Given the description of an element on the screen output the (x, y) to click on. 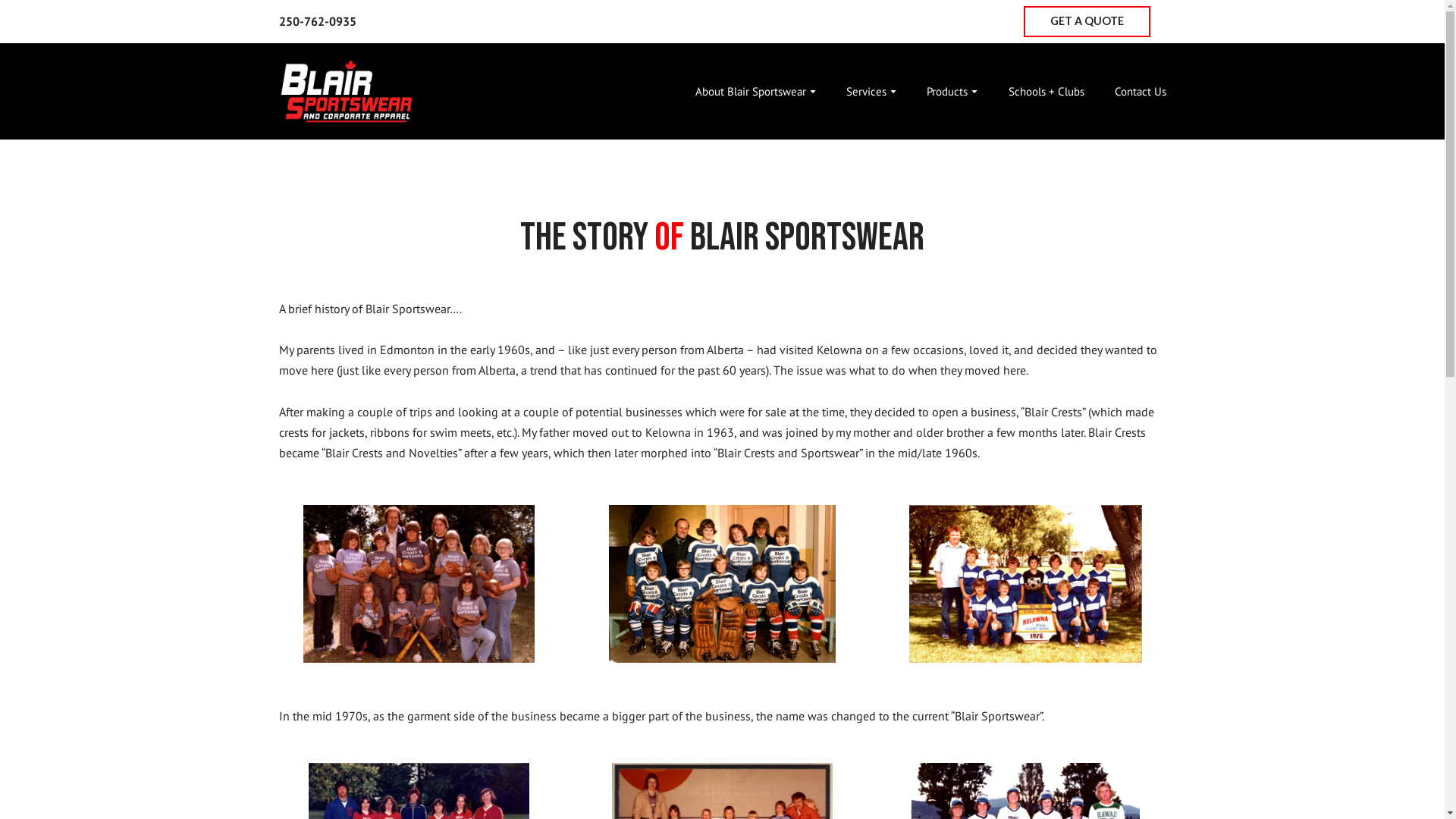
Contact Us Element type: text (1140, 91)
About Blair Sportswear Element type: text (750, 91)
Schools + Clubs Element type: text (1046, 91)
Products Element type: text (946, 91)
GET A QUOTE Element type: text (1086, 21)
250-762-0935 Element type: text (317, 20)
